Given the description of an element on the screen output the (x, y) to click on. 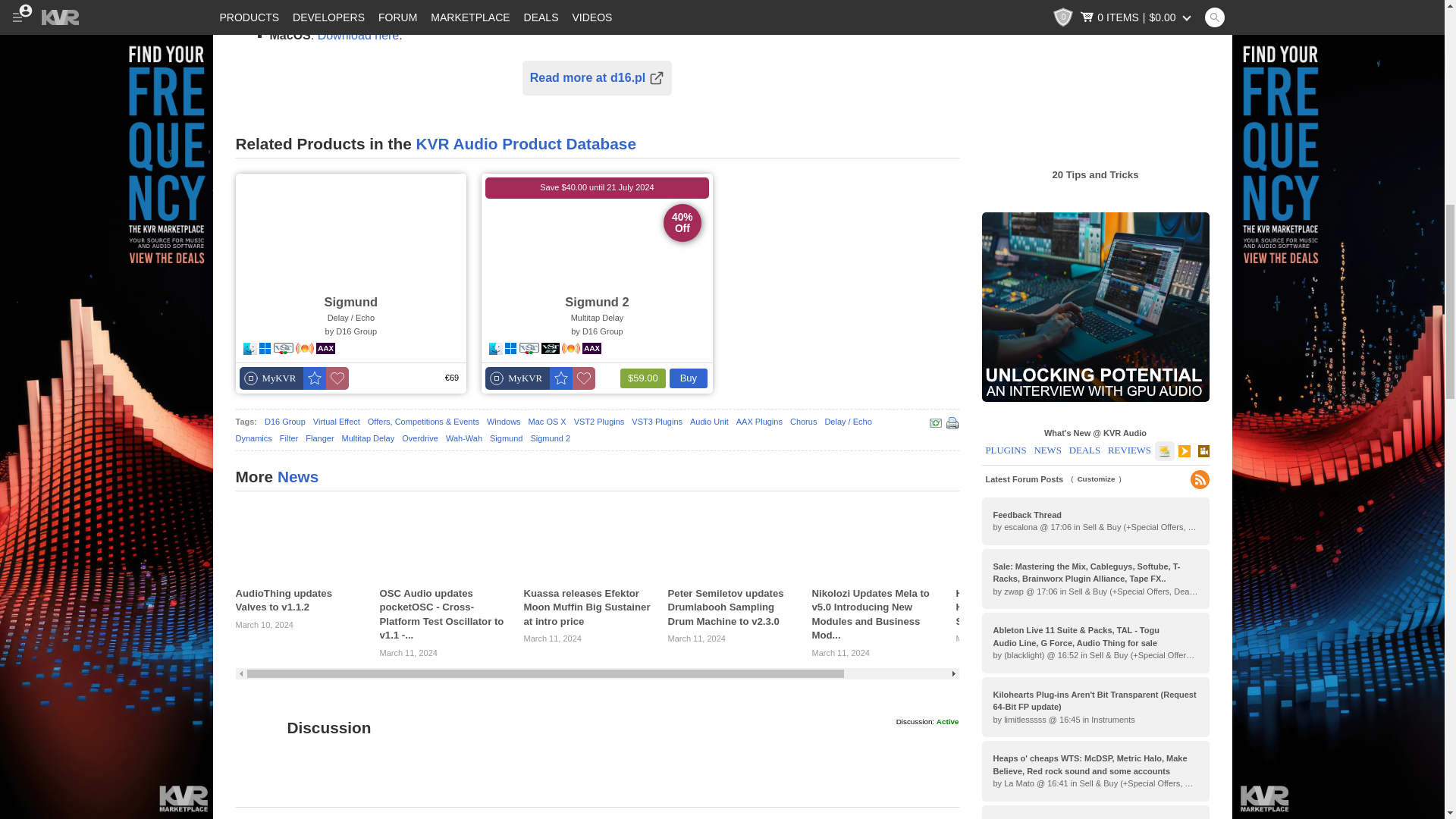
KVR Marketplace Deals (106, 63)
